Given the description of an element on the screen output the (x, y) to click on. 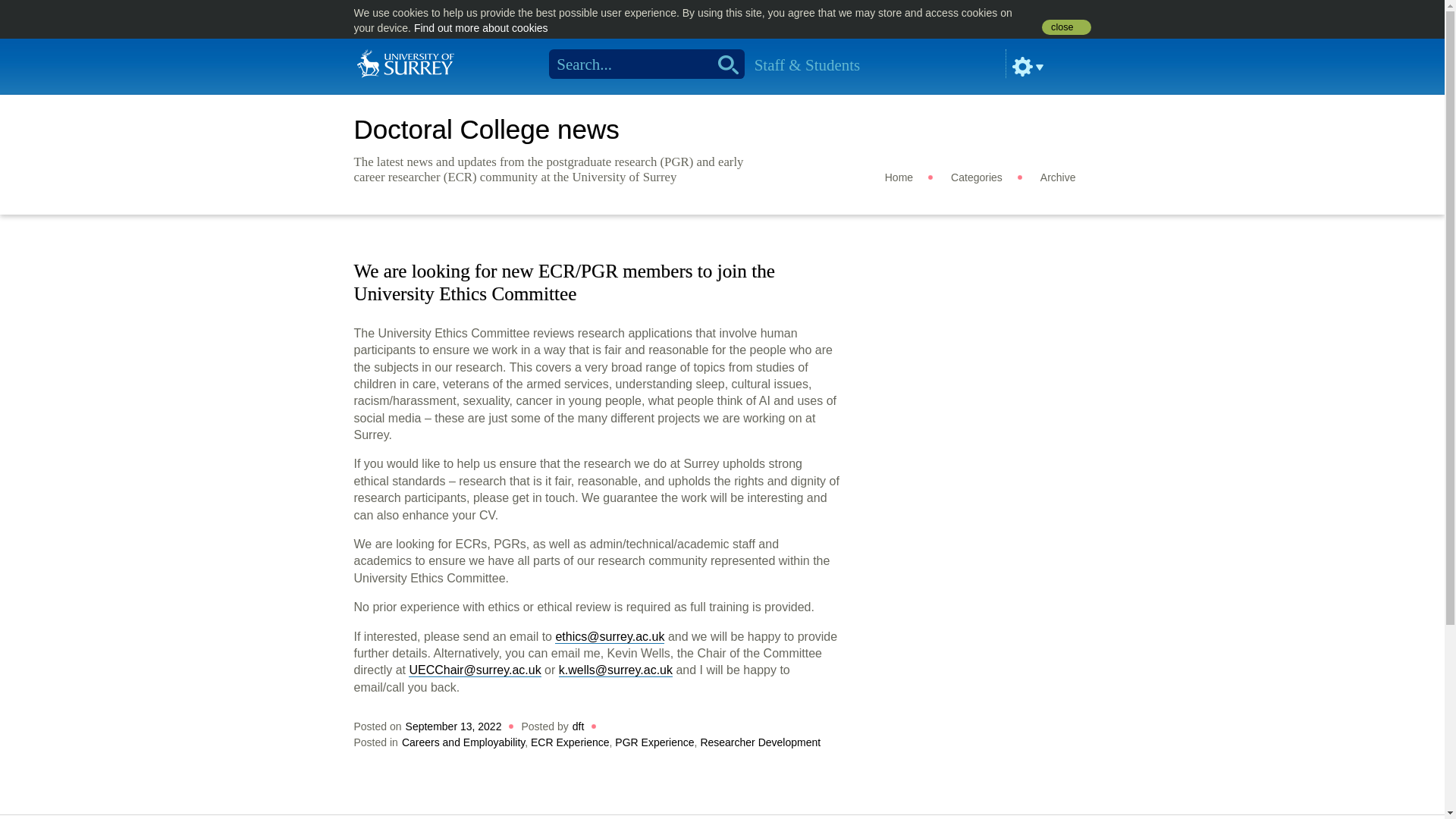
close (1066, 27)
Categories (976, 177)
Find out more about cookies (480, 28)
dft (578, 726)
Careers and Employability (462, 742)
Home (405, 62)
Home (898, 177)
Search (722, 64)
Archive (1058, 177)
Doctoral College news (485, 129)
